Given the description of an element on the screen output the (x, y) to click on. 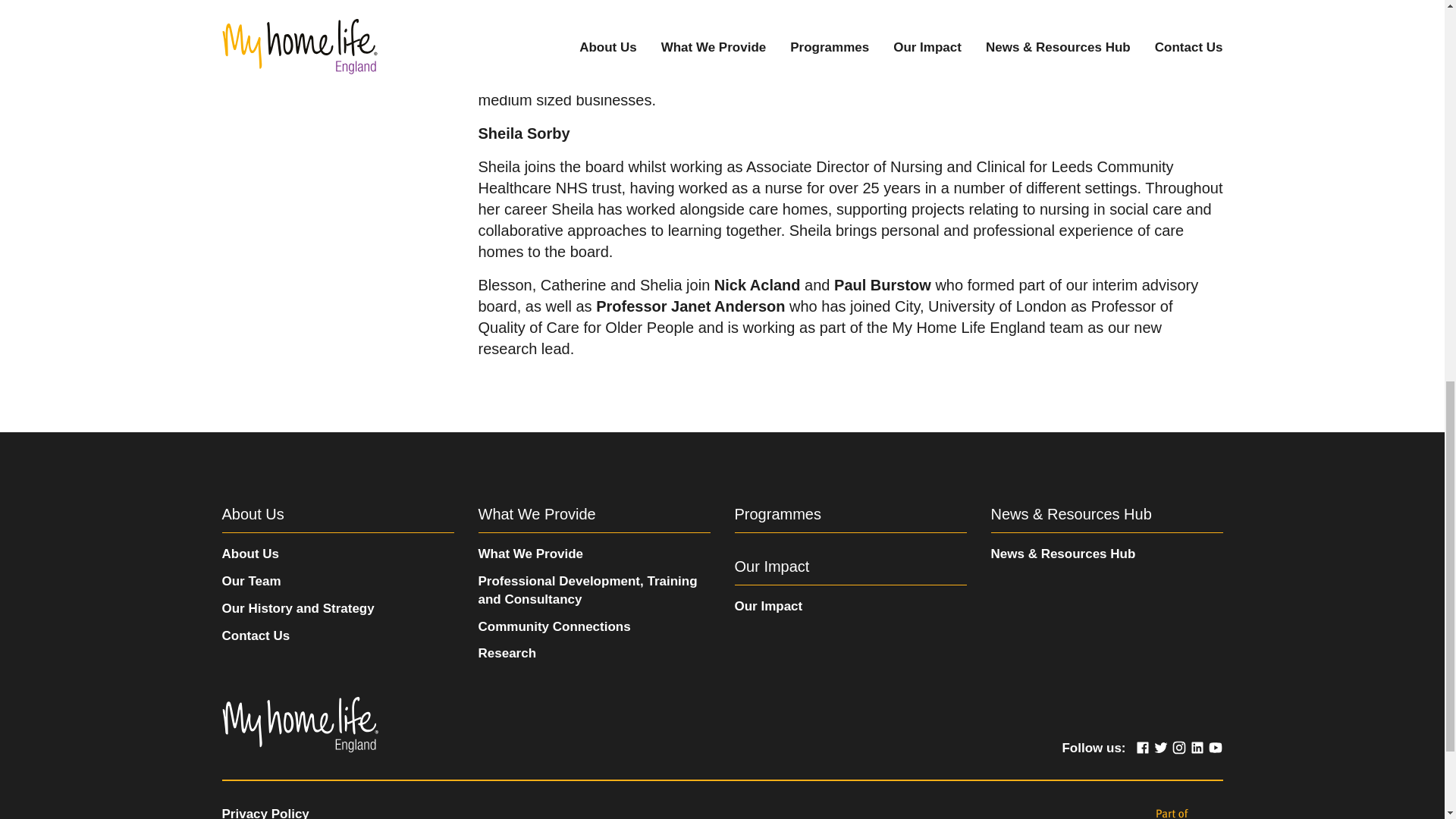
Our Impact (767, 605)
Our History and Strategy (297, 608)
Twitter (1160, 747)
What We Provide (530, 554)
About Us (250, 554)
Our Team (251, 581)
Research (506, 653)
Community Connections (553, 626)
YouTube (1215, 747)
My Home Life England (299, 725)
Contact Us (255, 635)
Facebook (1142, 747)
Professional Development, Training and Consultancy (587, 590)
Instagram (1178, 747)
LinkedIn (1196, 747)
